Given the description of an element on the screen output the (x, y) to click on. 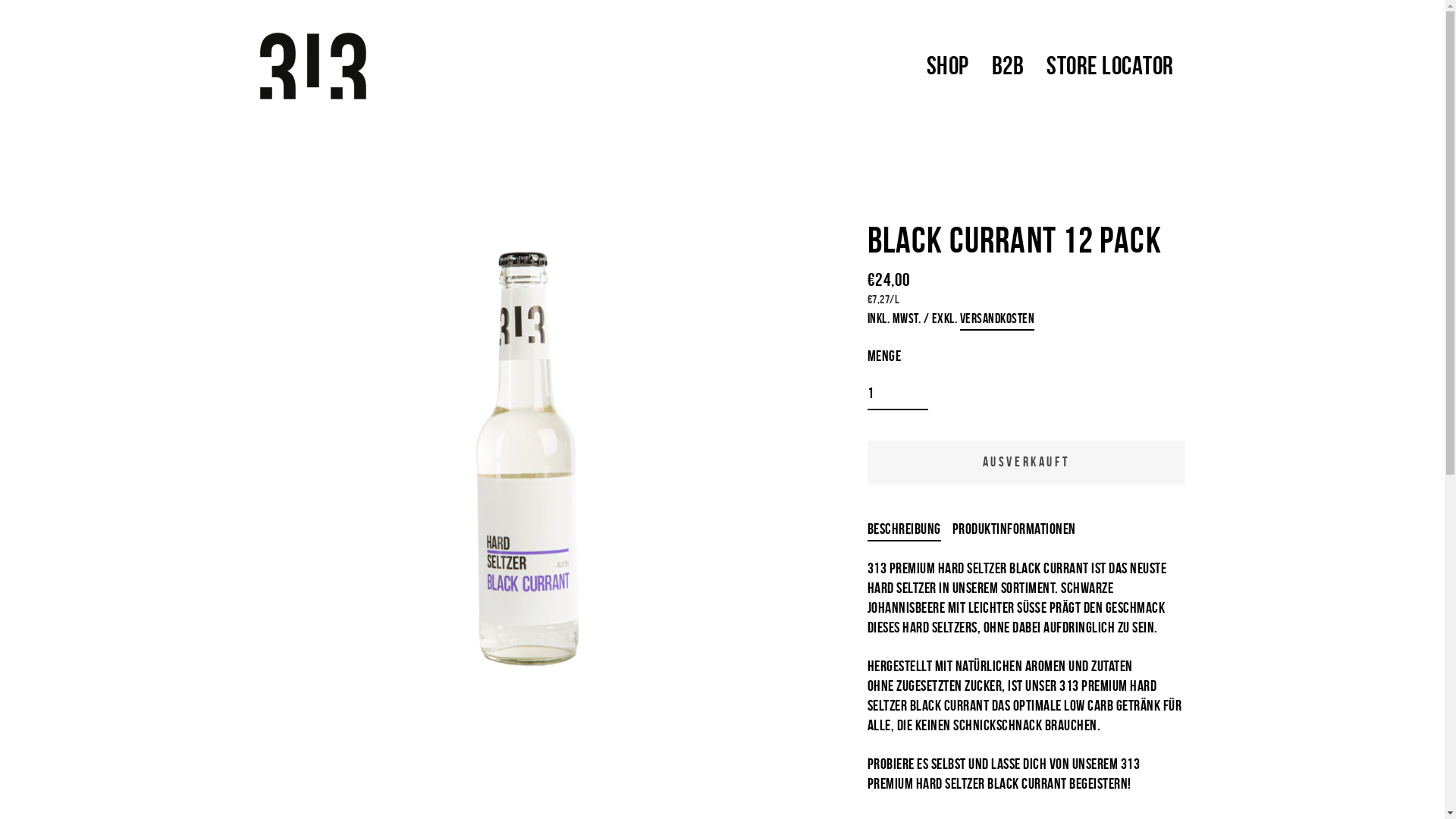
Beschreibung Element type: text (904, 526)
Produktinformationen Element type: text (1014, 526)
Direkt zum Inhalt Element type: text (0, 0)
B2B Element type: text (1007, 65)
Versandkosten Element type: text (997, 319)
SHOP Element type: text (946, 65)
STORE LOCATOR Element type: text (1110, 65)
AUSVERKAUFT Element type: text (1026, 462)
